Given the description of an element on the screen output the (x, y) to click on. 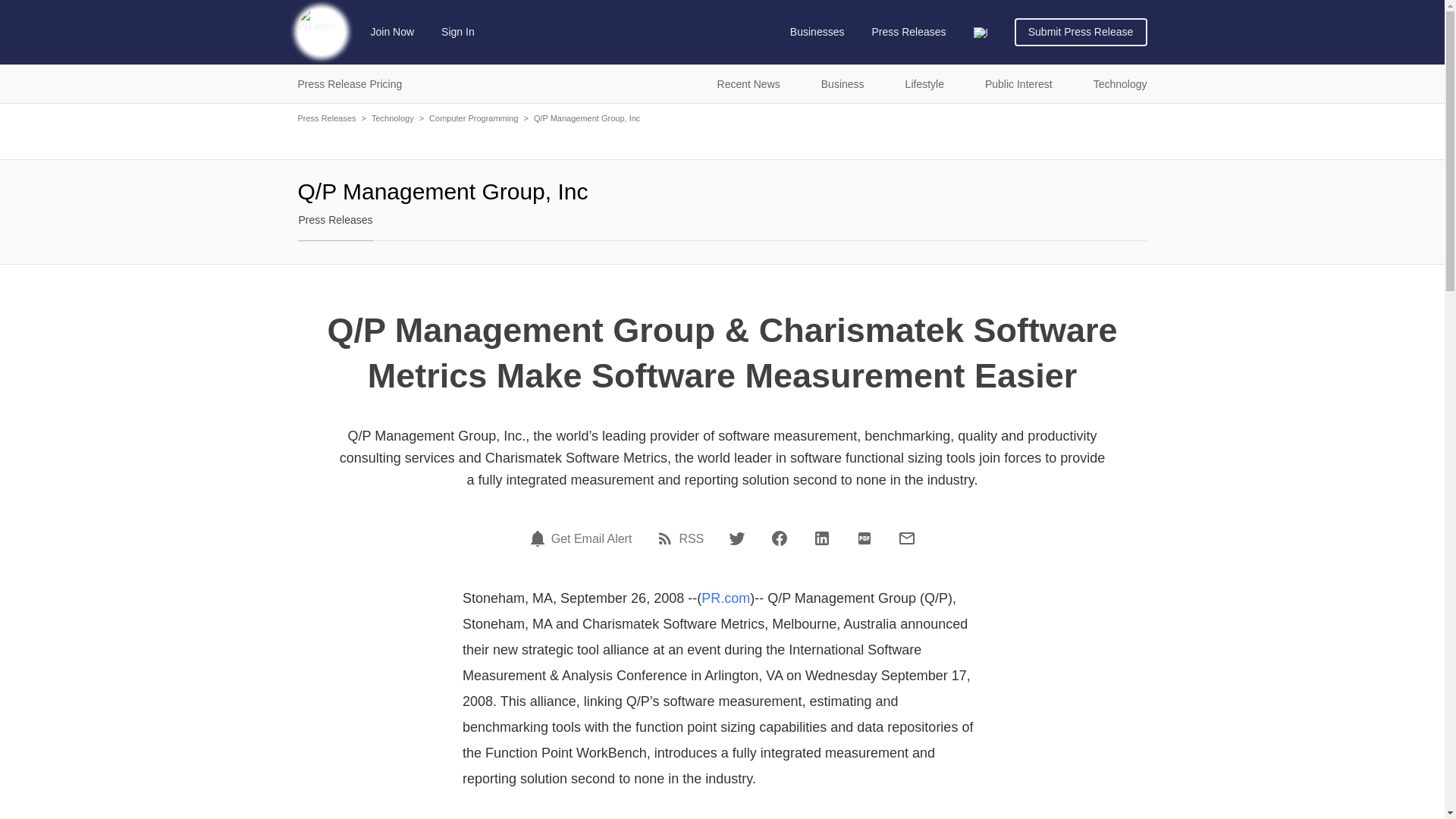
Join Now (392, 31)
Submit Press Release (1080, 31)
Press Releases (908, 31)
Businesses (817, 31)
Sign In (458, 31)
